Given the description of an element on the screen output the (x, y) to click on. 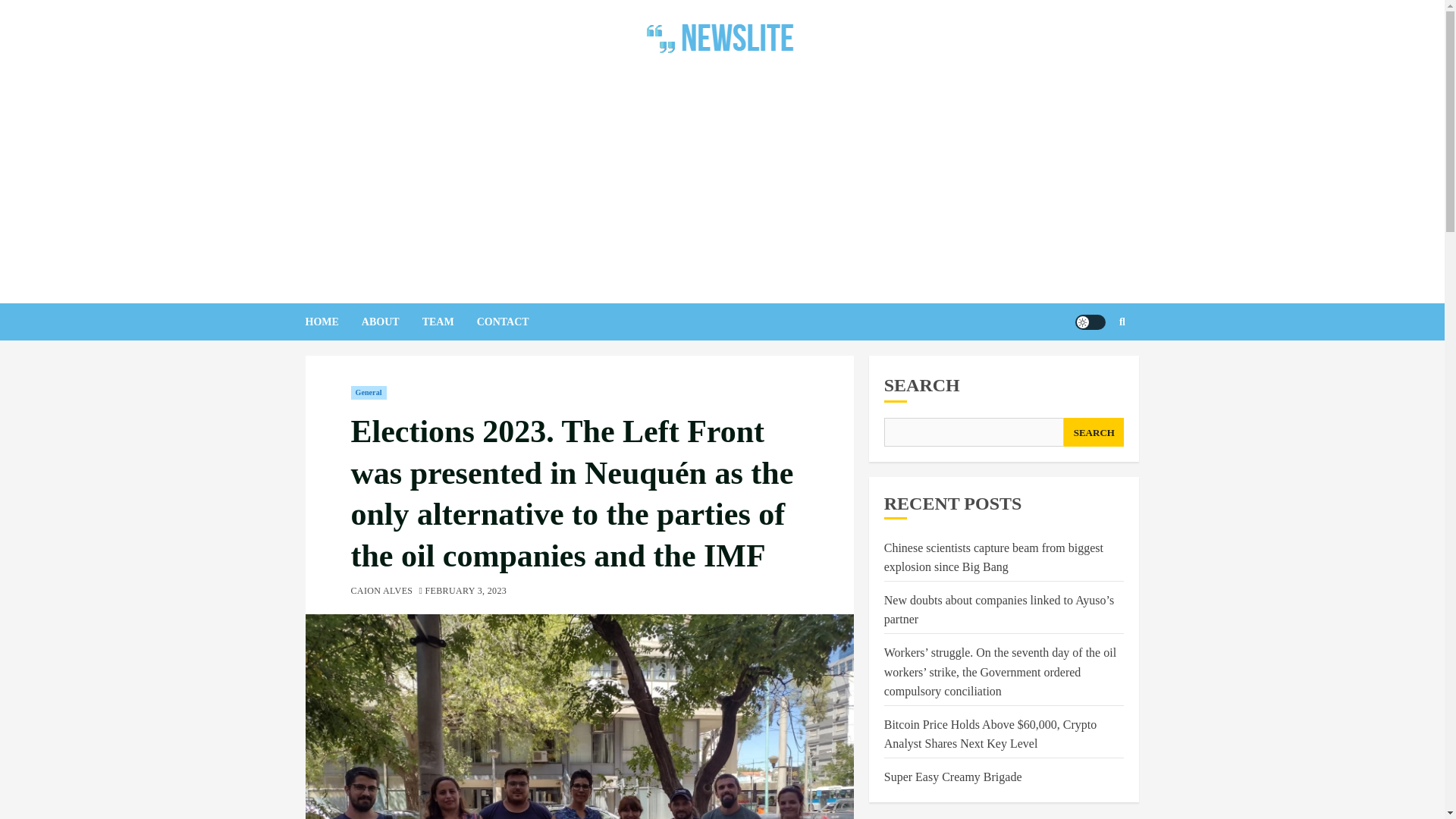
SEARCH (1094, 431)
CAION ALVES (381, 591)
FEBRUARY 3, 2023 (465, 591)
Search (1092, 367)
Super Easy Creamy Brigade (952, 776)
TEAM (449, 321)
General (367, 392)
CONTACT (514, 321)
HOME (332, 321)
